Given the description of an element on the screen output the (x, y) to click on. 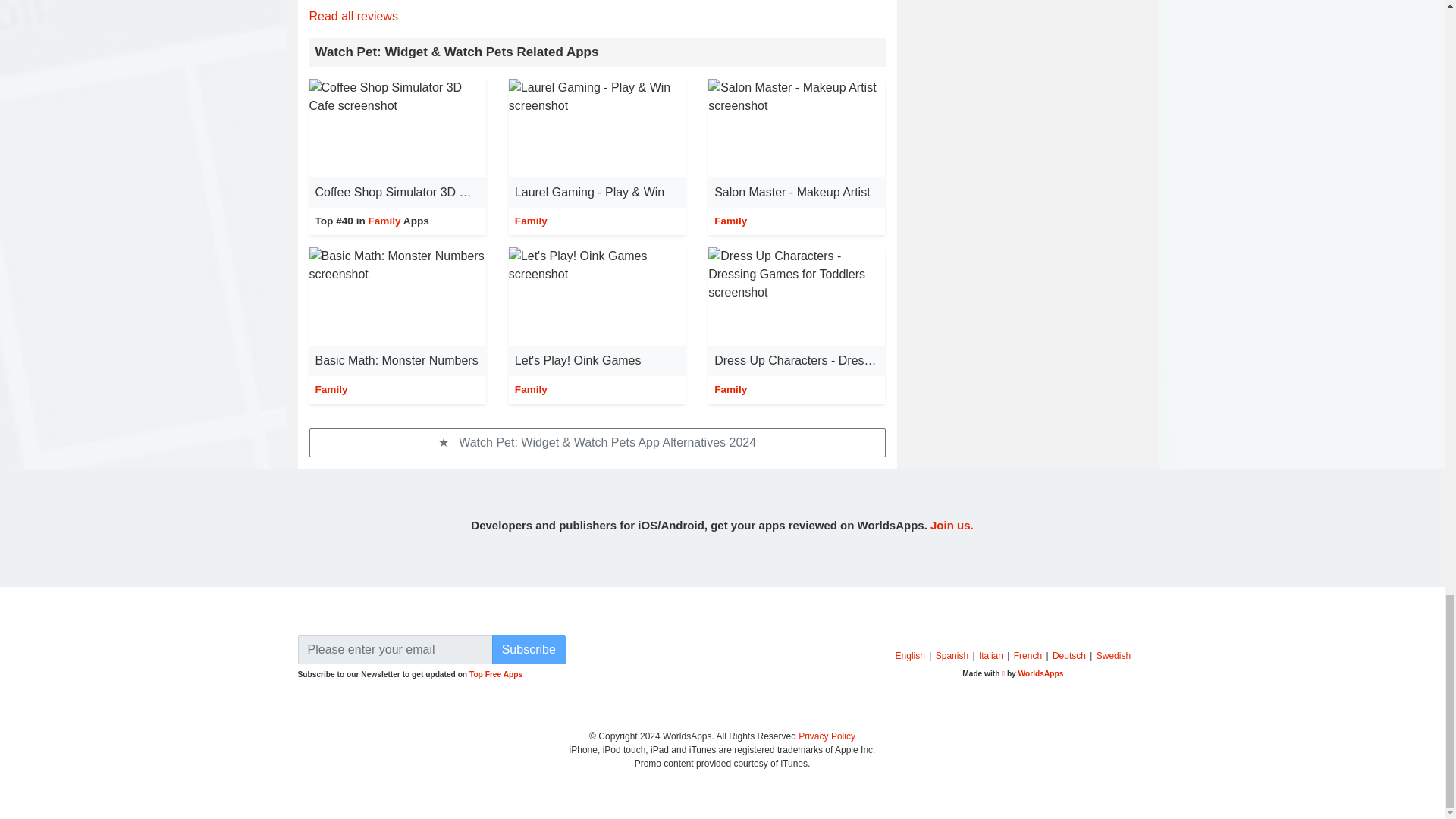
Family (730, 220)
Read all reviews (352, 15)
Family (730, 389)
Family (384, 220)
Family (531, 389)
Family (331, 389)
Family (531, 220)
